Given the description of an element on the screen output the (x, y) to click on. 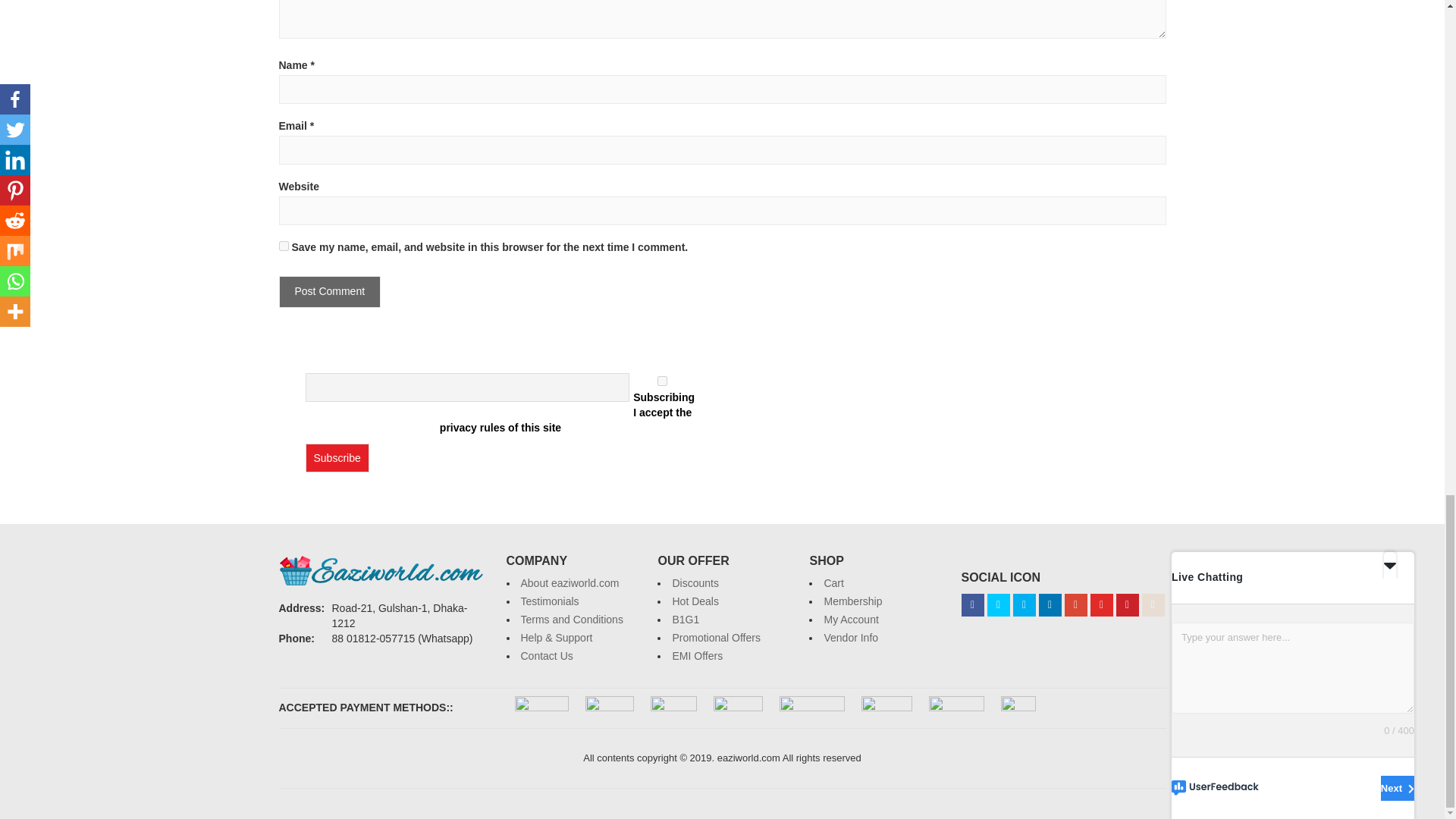
yes (283, 245)
Post Comment (330, 291)
on (662, 380)
Subscribe (336, 457)
